Given the description of an element on the screen output the (x, y) to click on. 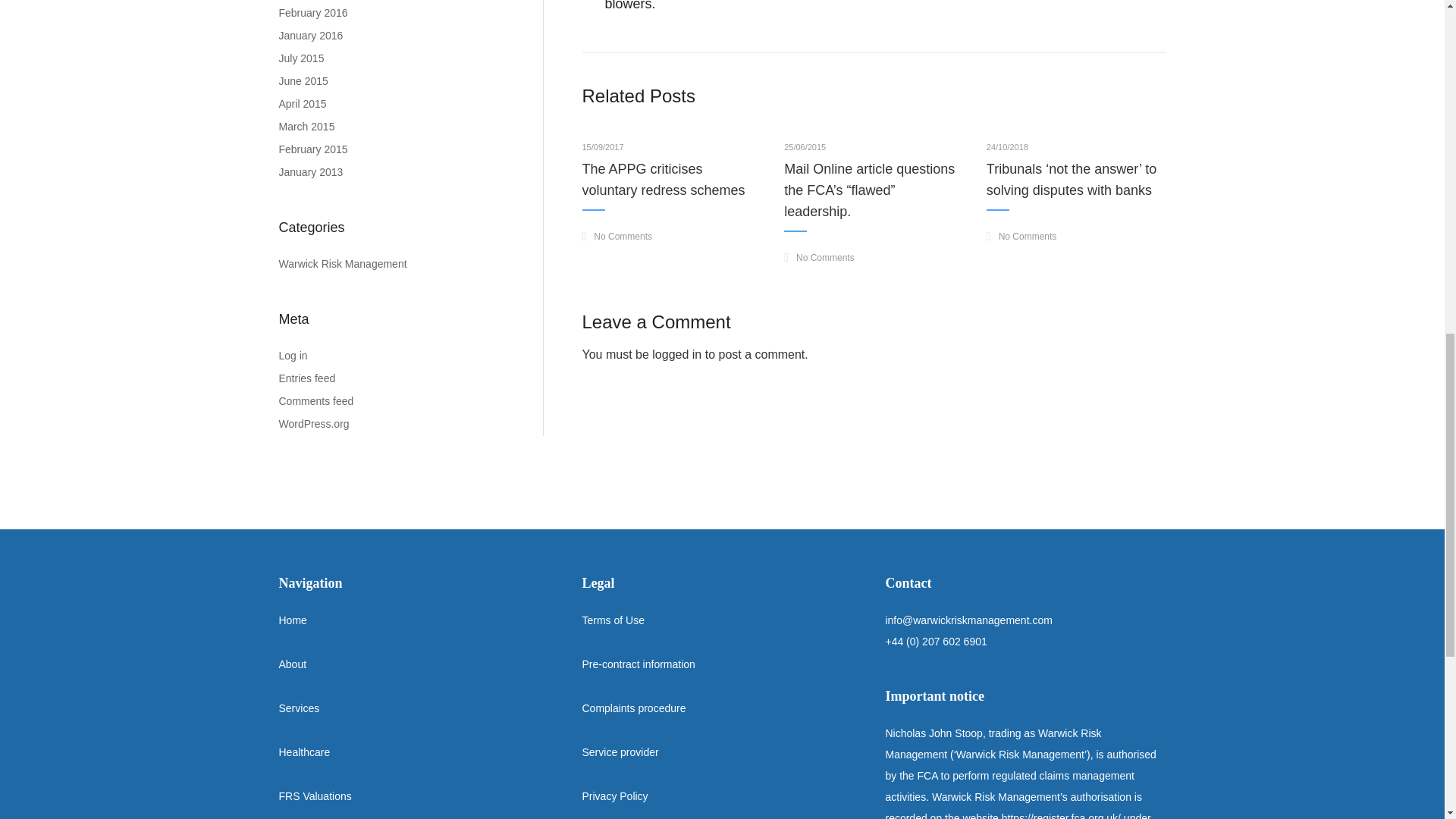
No Comments (617, 236)
No Comments (819, 257)
No Comments (1022, 236)
No Comments (617, 236)
The APPG criticises voluntary redress schemes (663, 179)
No Comments (819, 257)
